Given the description of an element on the screen output the (x, y) to click on. 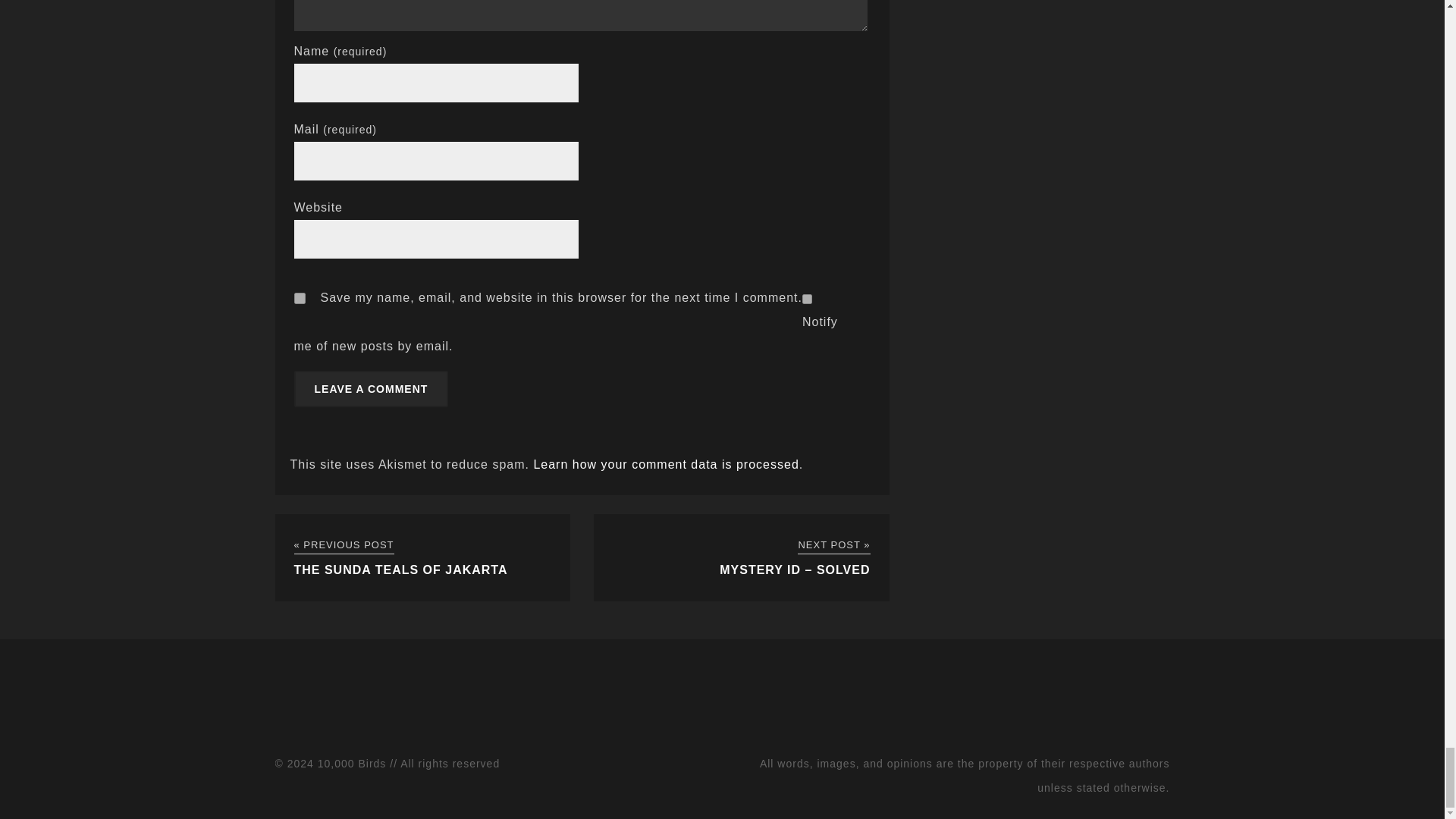
yes (299, 297)
Leave a Comment (371, 389)
